Given the description of an element on the screen output the (x, y) to click on. 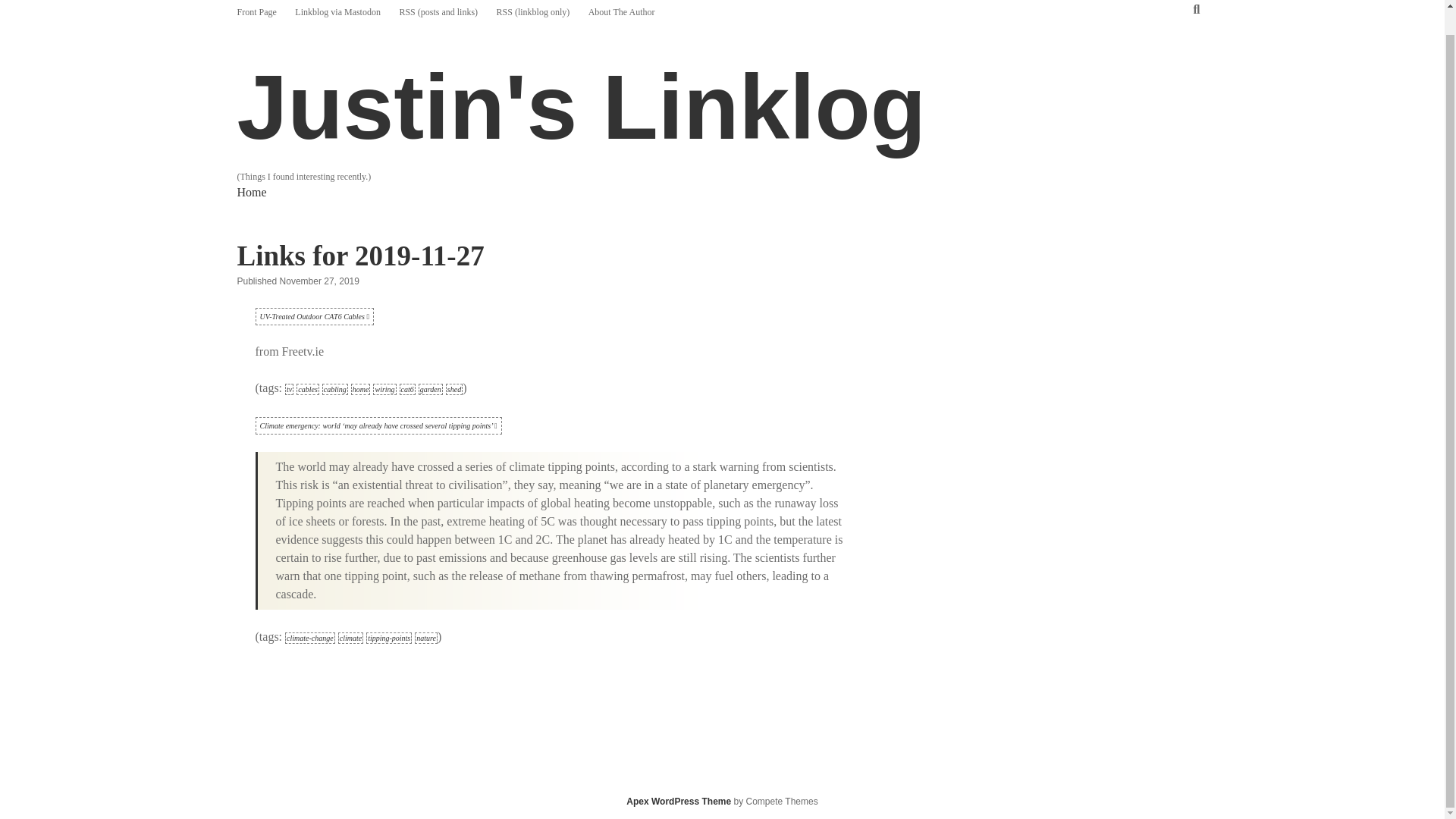
cabling (334, 389)
nature (426, 637)
home (360, 389)
garden (430, 389)
Links for 2019-11-27 (359, 255)
Apex WordPress Theme (678, 801)
cat6 (406, 389)
Front Page (255, 11)
UV-Treated Outdoor CAT6 Cables (314, 316)
Justin's Linklog (580, 107)
